Given the description of an element on the screen output the (x, y) to click on. 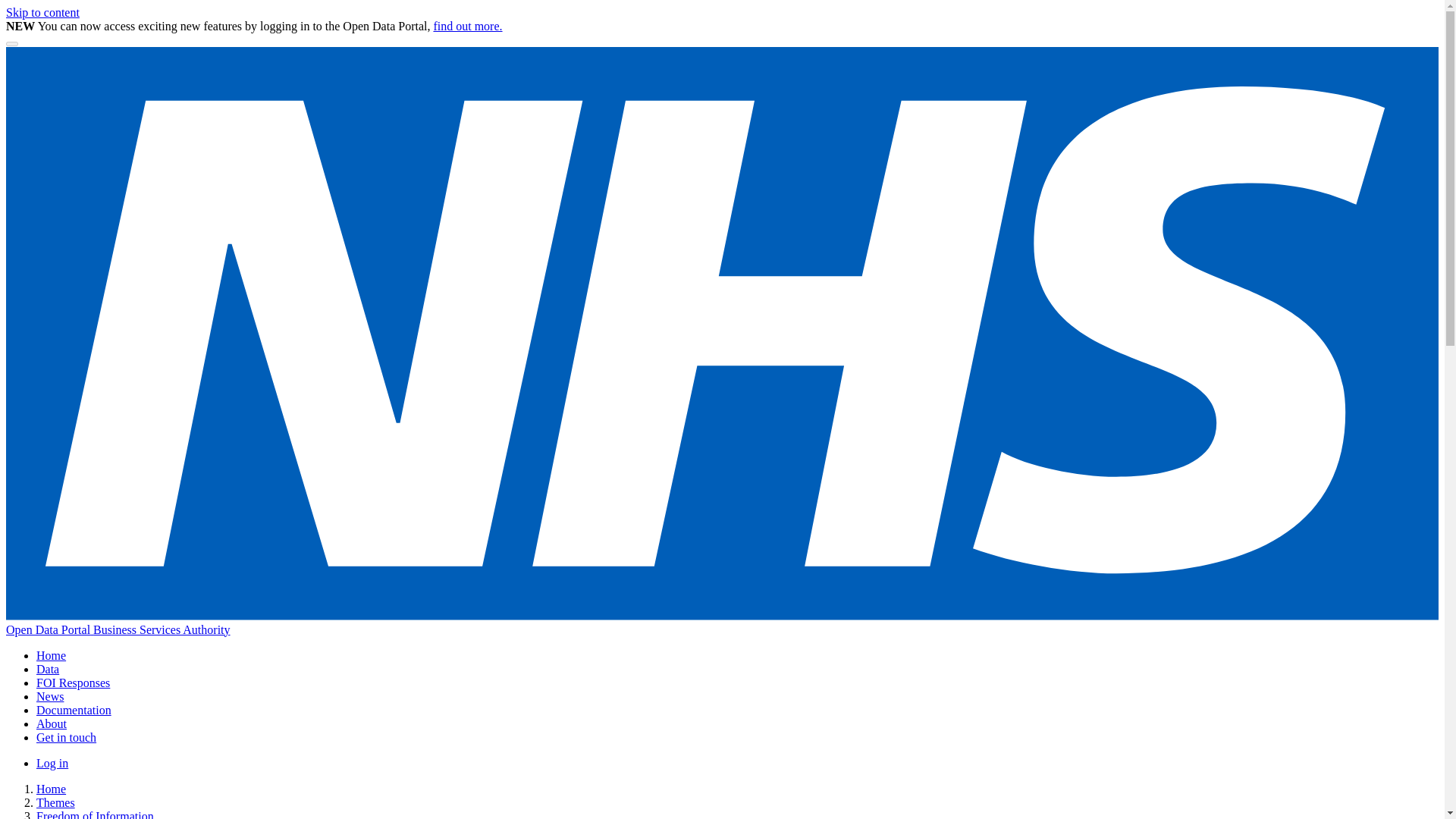
FOI Responses (73, 682)
Freedom of Information ... (100, 814)
Get in touch (66, 737)
About (51, 723)
Go to Documentation (74, 709)
Go to Data (47, 668)
Go to Home (50, 655)
Go to Contact (66, 737)
Skip to content (42, 11)
Find out about the new features (467, 25)
News (50, 696)
Home (50, 788)
Data (47, 668)
FOI DATA (73, 682)
Home (50, 655)
